Given the description of an element on the screen output the (x, y) to click on. 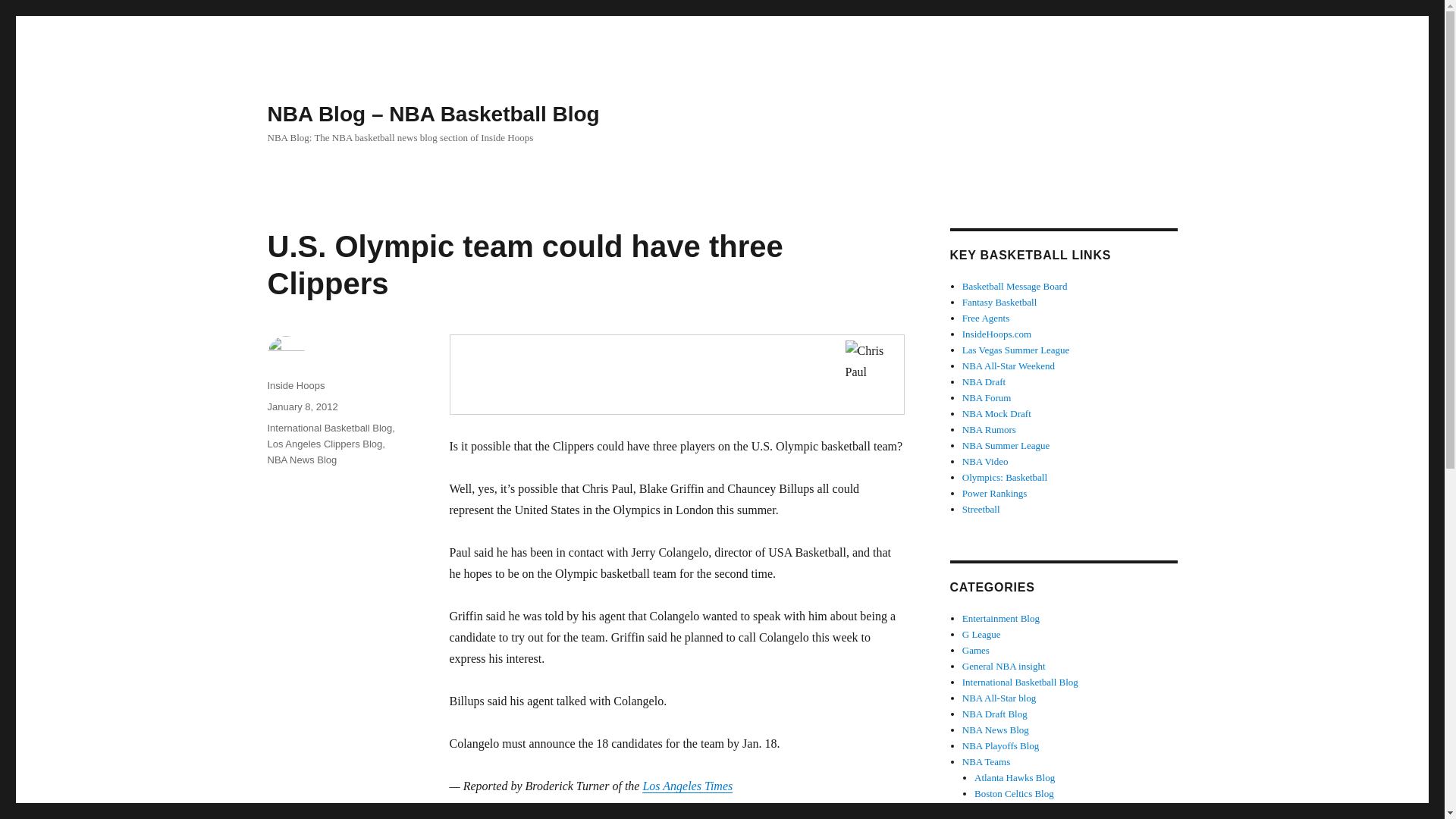
NBA All-Star blog (999, 697)
General NBA insight (1003, 665)
Inside Hoops (295, 385)
NBA playoffs blog (1000, 745)
Basketball games blog (976, 650)
International Basketball Blog (1020, 681)
NBA Summer League (1005, 445)
January 8, 2012 (301, 406)
Entertainment blog (1000, 618)
Olympics: Basketball (1004, 477)
